Given the description of an element on the screen output the (x, y) to click on. 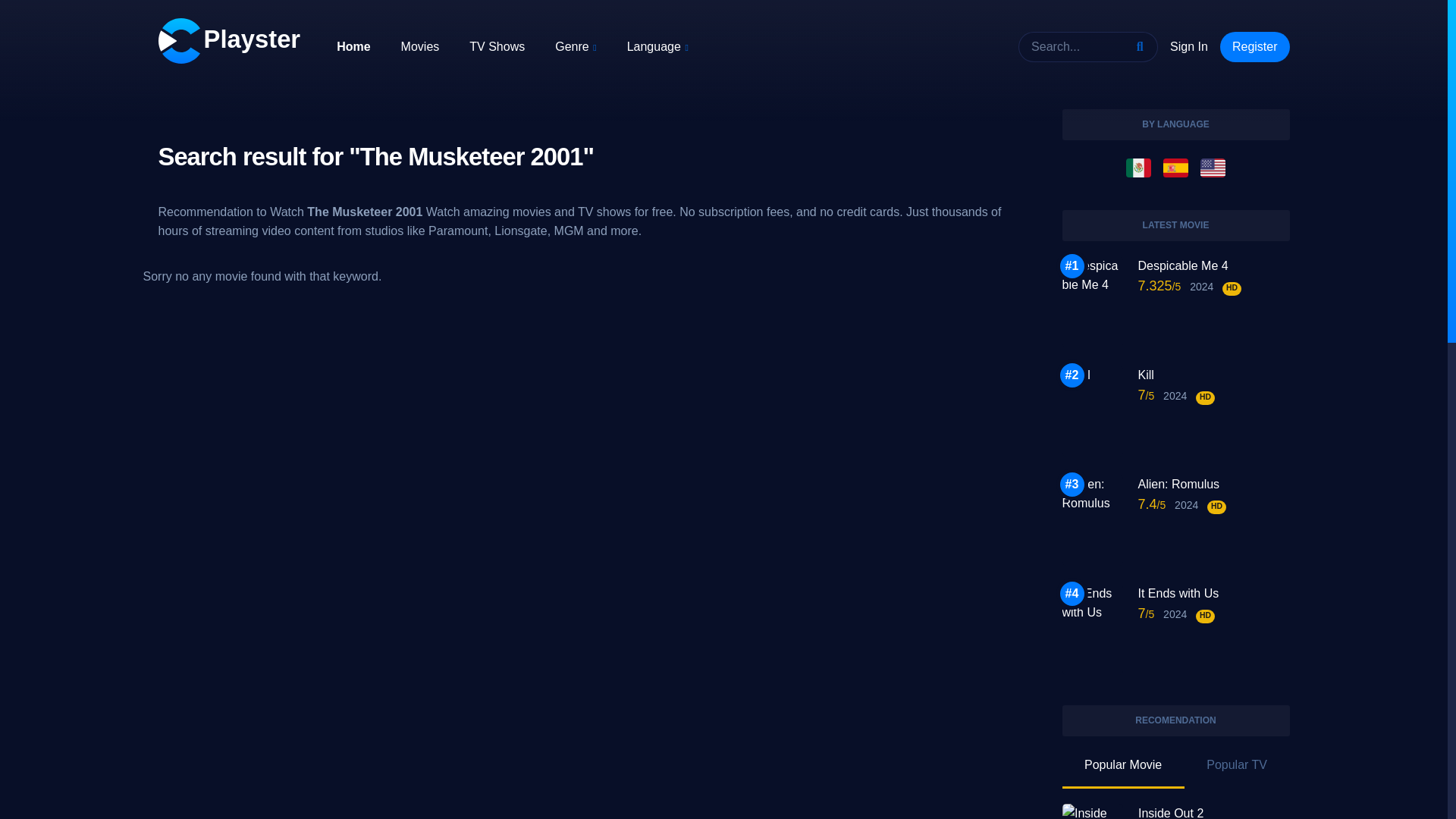
Language (657, 46)
TV Shows (496, 45)
Movies (420, 45)
Register (1255, 46)
Home (352, 45)
Series (496, 45)
Home (352, 45)
Sign In (1188, 46)
Movies (420, 45)
Genre (574, 46)
